Given the description of an element on the screen output the (x, y) to click on. 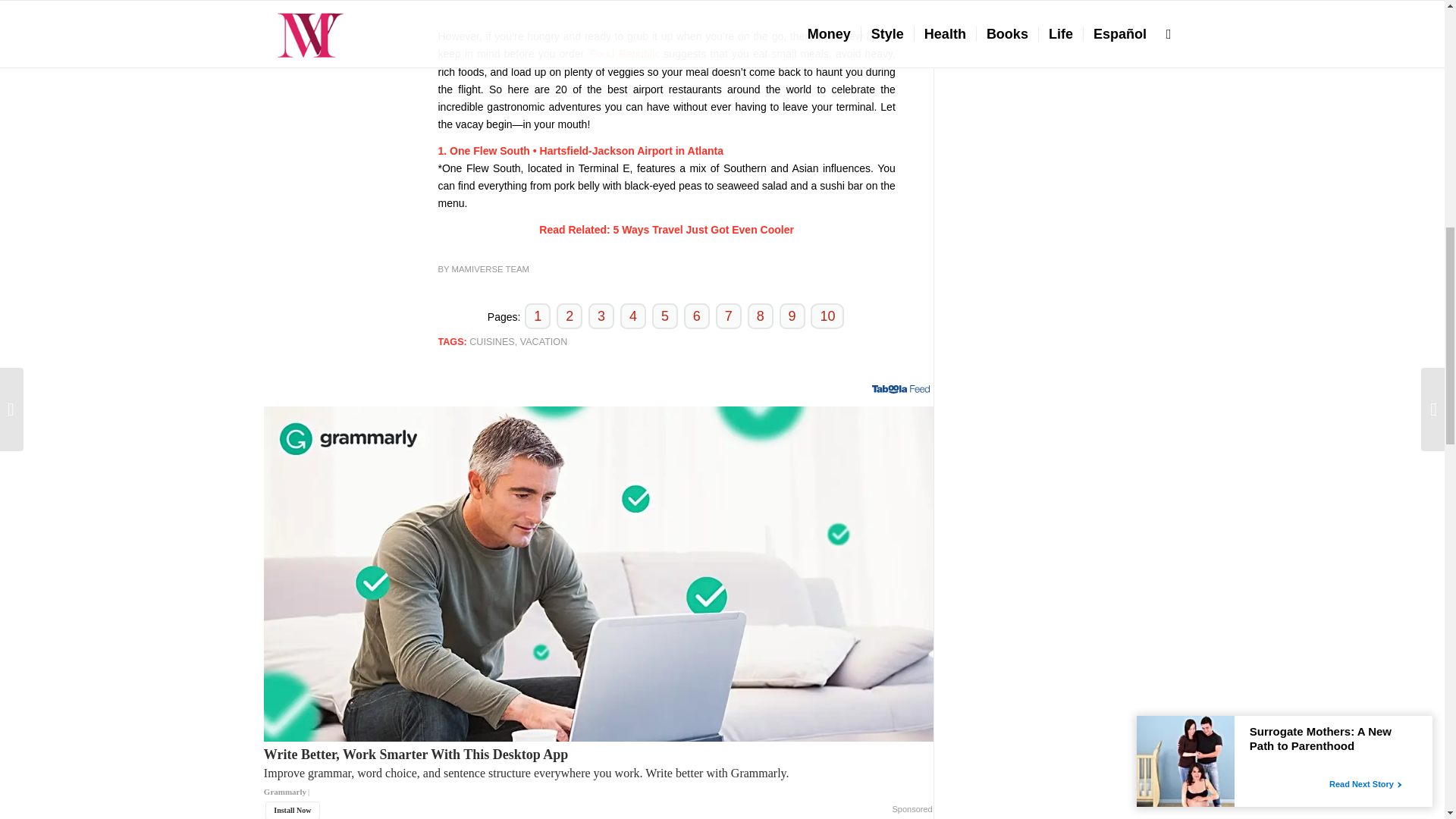
5 Ways Travel Just Got Even Cooler (702, 229)
3 (600, 315)
8 (759, 315)
Write Better, Work Smarter With This Desktop App (598, 779)
MAMIVERSE TEAM (490, 268)
Sponsored (911, 809)
9 (791, 315)
10 (827, 315)
VACATION (543, 341)
5 (664, 315)
3rd party ad content (666, 9)
One Flew South (489, 150)
CUISINES (490, 341)
